Given the description of an element on the screen output the (x, y) to click on. 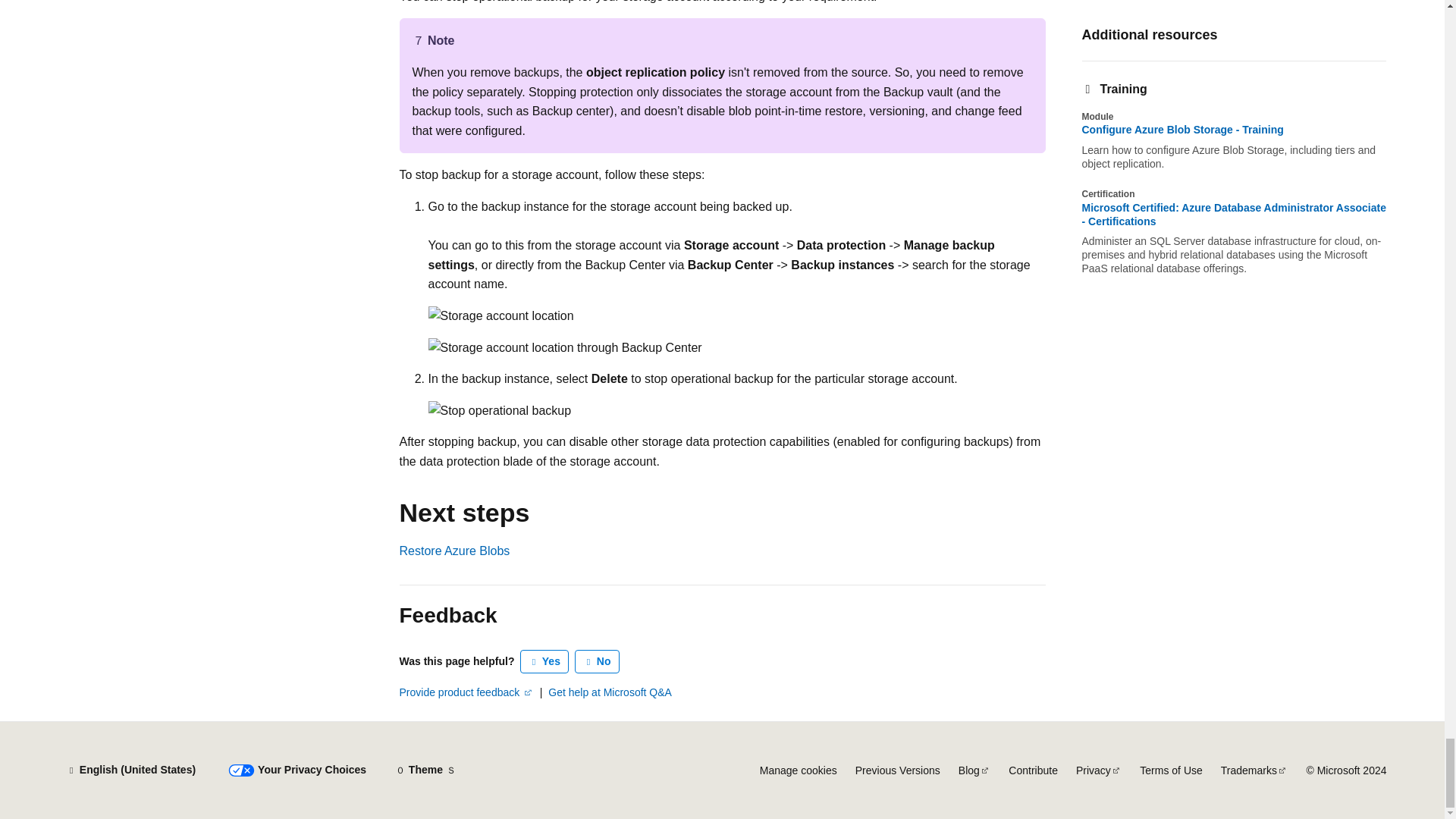
Theme (425, 770)
This article is helpful (544, 662)
This article is not helpful (597, 662)
